Given the description of an element on the screen output the (x, y) to click on. 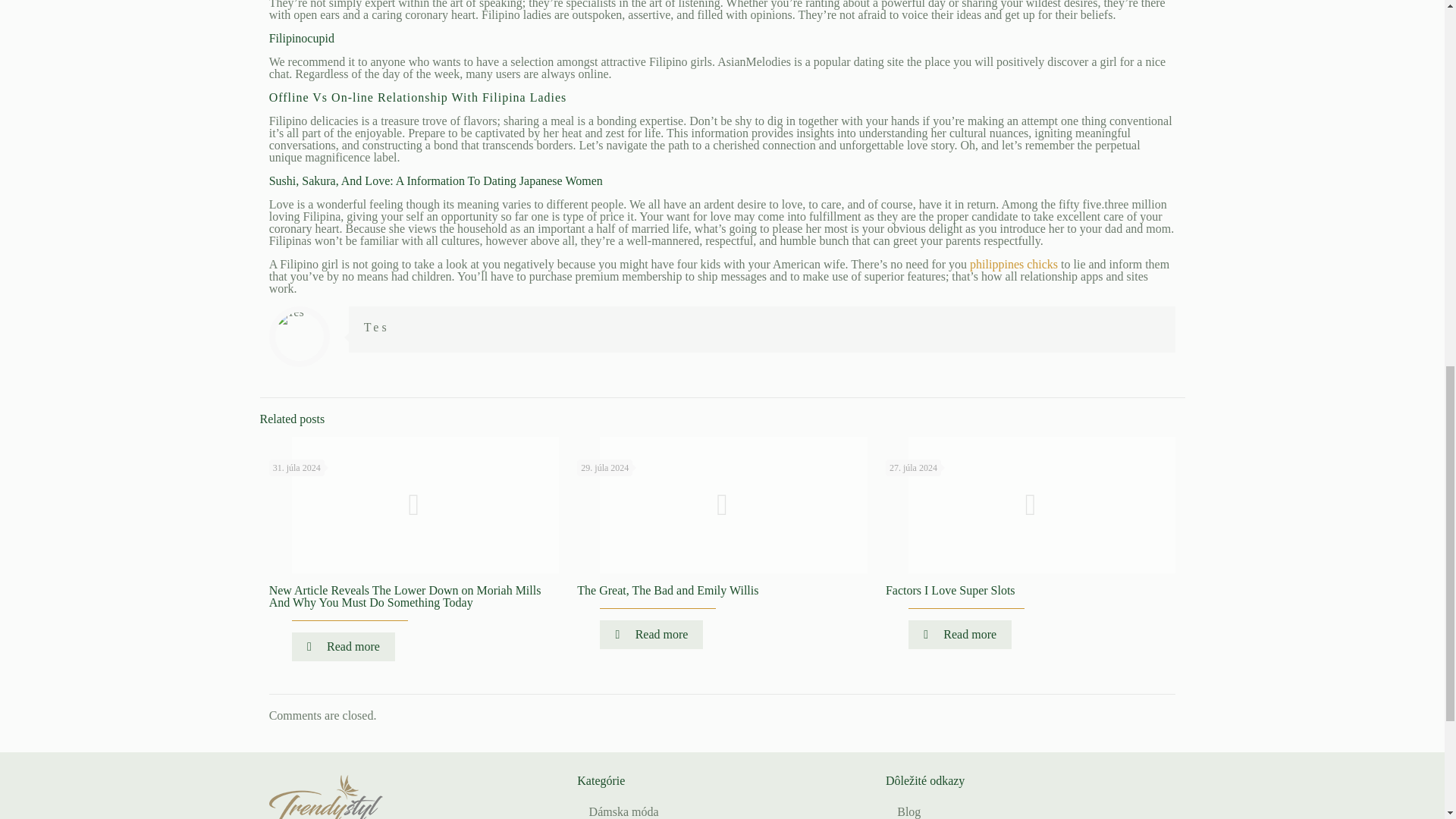
Tes (377, 327)
trendystyl logo footer (325, 796)
Factors I Love Super Slots (949, 590)
philippines chicks (1013, 264)
Read more (651, 634)
Read more (343, 646)
The Great, The Bad and Emily Willis (667, 590)
